Given the description of an element on the screen output the (x, y) to click on. 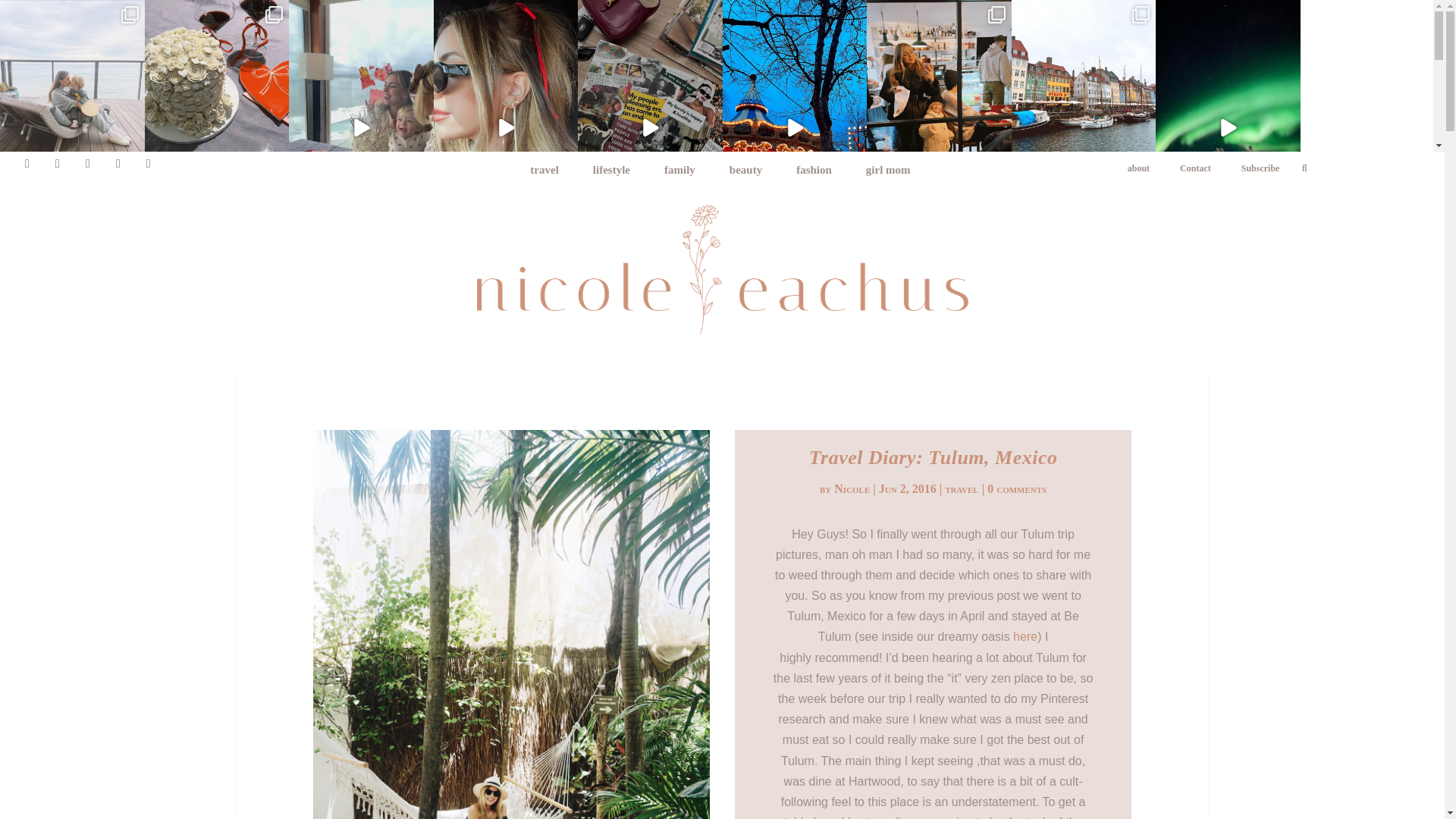
Follow on Instagram (26, 163)
Follow on Twitter (87, 163)
Follow on Pinterest (148, 163)
Follow on Facebook (57, 163)
Follow on Youtube (118, 163)
travel (1213, 168)
